Given the description of an element on the screen output the (x, y) to click on. 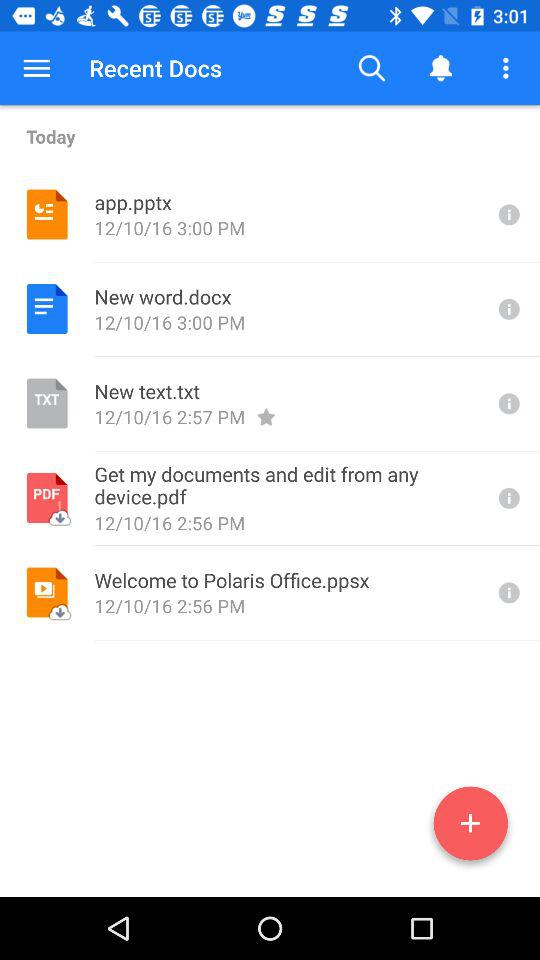
view additional info for the file new text.txt (507, 403)
